Given the description of an element on the screen output the (x, y) to click on. 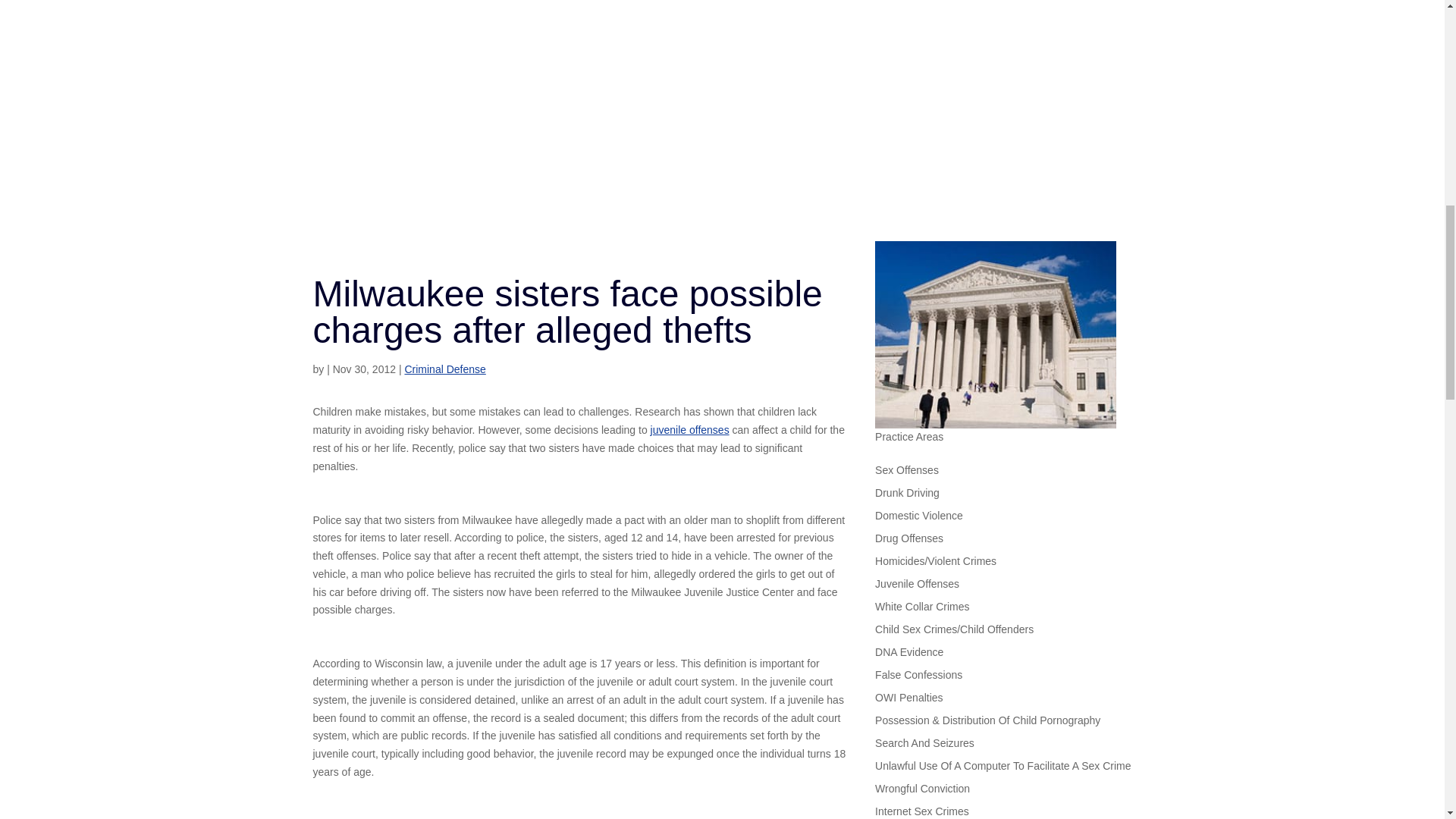
Drug Offenses (909, 541)
OWI Penalties (908, 700)
Criminal Defense (444, 369)
Drunk Driving (907, 495)
Search And Seizures (924, 745)
Domestic Violence (918, 518)
DNA Evidence (909, 655)
Juvenile Offenses (917, 586)
White Collar Crimes (922, 609)
Sex Offenses (907, 473)
